Given the description of an element on the screen output the (x, y) to click on. 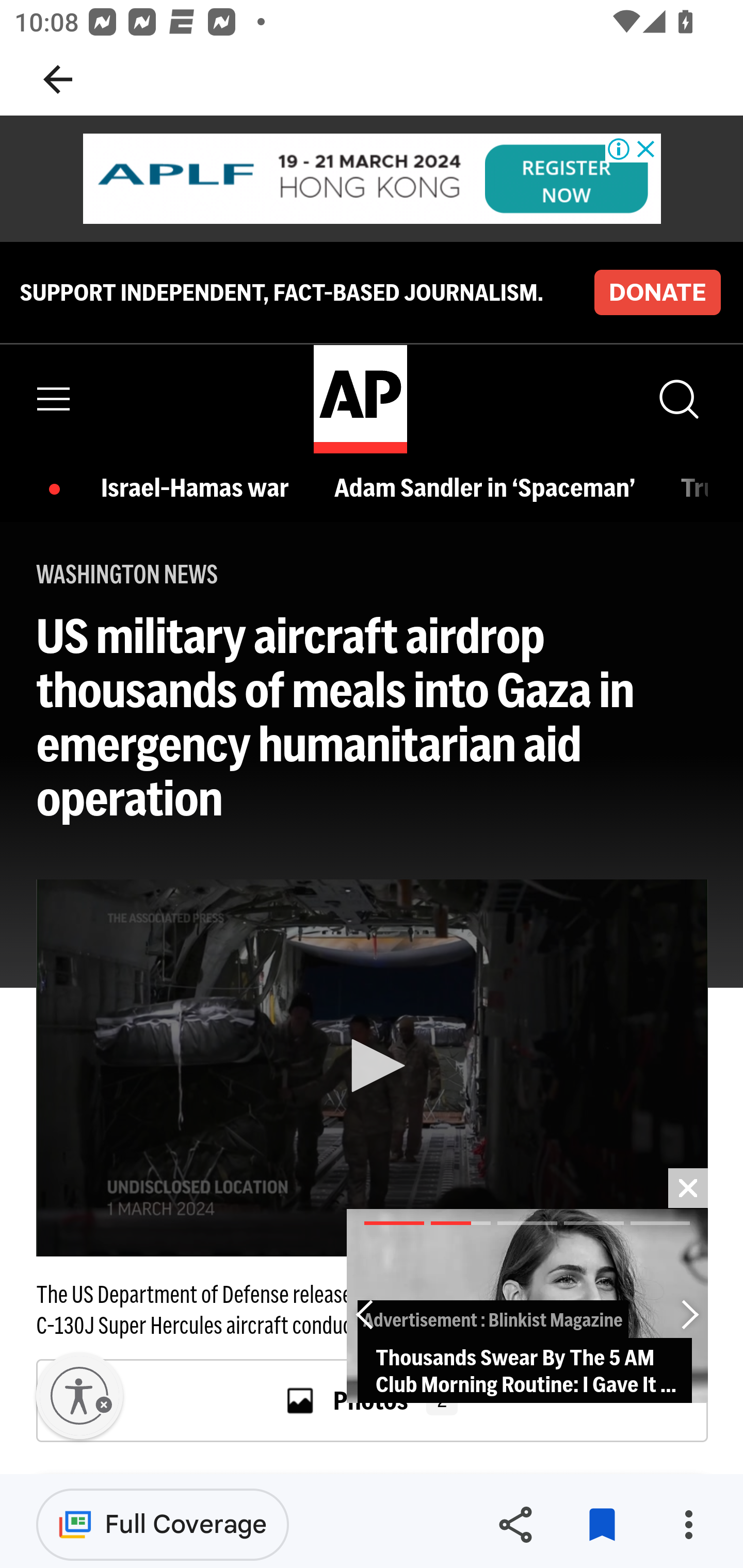
Navigate up (57, 79)
DONATE (657, 291)
home page AP Logo (359, 398)
Menu (54, 398)
Show Search (677, 398)
Israel-Hamas war (200, 487)
Adam Sandler in ‘Spaceman’ (489, 487)
Play (372, 1066)
Enable accessibility (79, 1395)
Share (514, 1524)
Remove from saved stories (601, 1524)
More options (688, 1524)
Full Coverage (162, 1524)
